Given the description of an element on the screen output the (x, y) to click on. 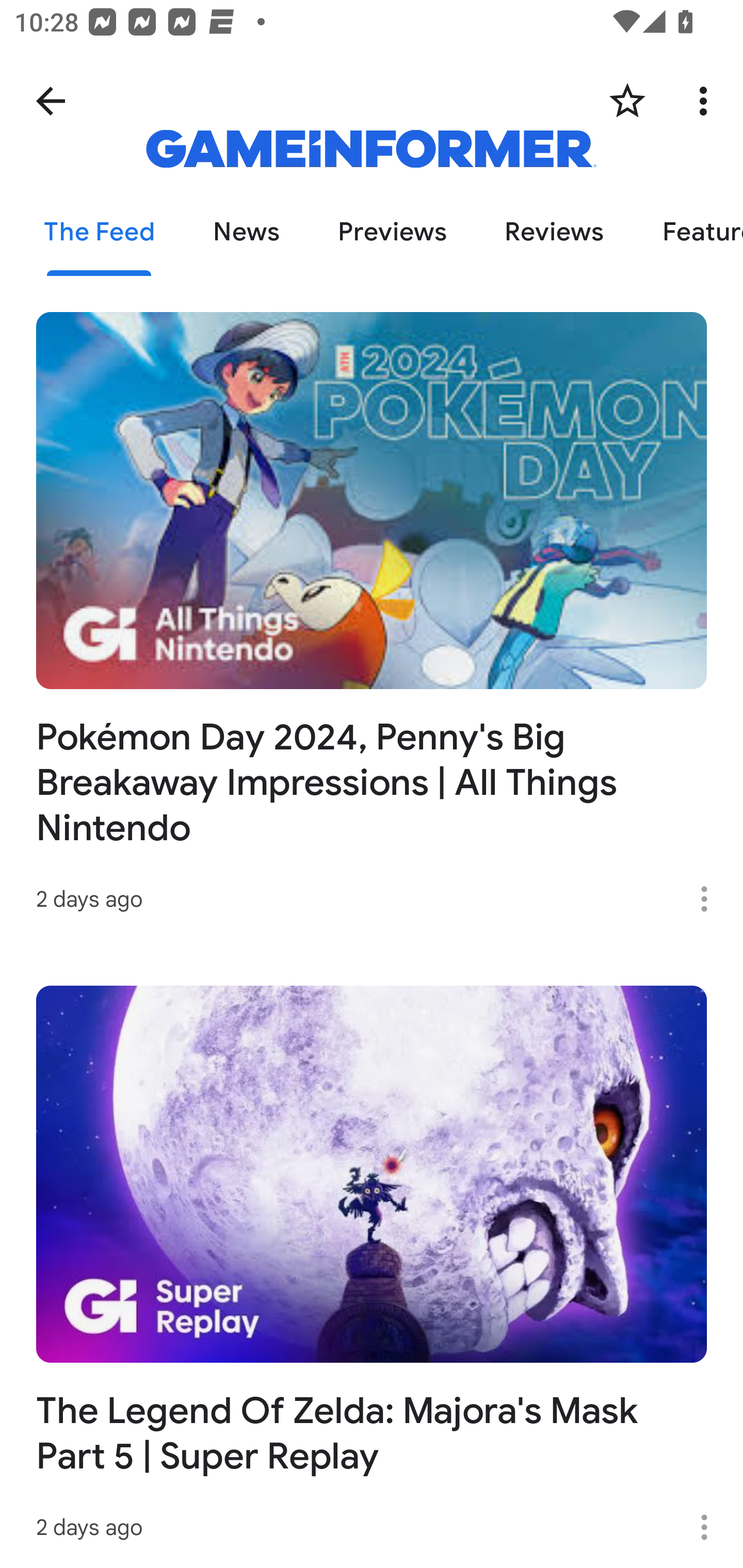
Navigate up (50, 101)
Follow (626, 101)
More options (706, 101)
News (245, 232)
Previews (391, 232)
Reviews (554, 232)
Features (688, 232)
More options (711, 899)
More options (711, 1527)
